Given the description of an element on the screen output the (x, y) to click on. 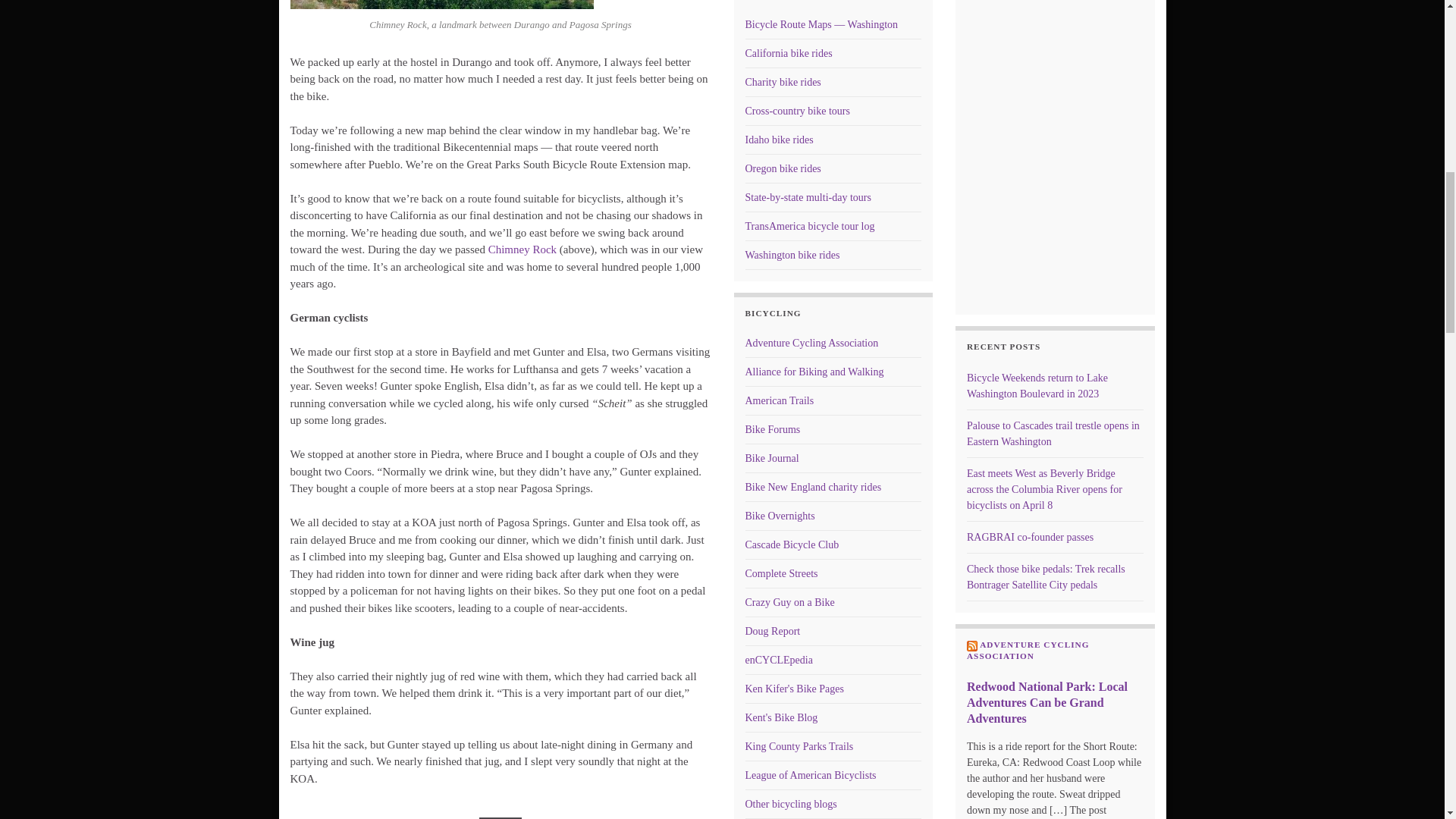
Chimney Rock (521, 249)
News regarding regional trails (798, 746)
Mainly racing but some general cycling news (771, 631)
Blogs not listed here (789, 803)
1984 bicycle tour (809, 225)
Seattle-based riding and advocacy club (791, 544)
